Given the description of an element on the screen output the (x, y) to click on. 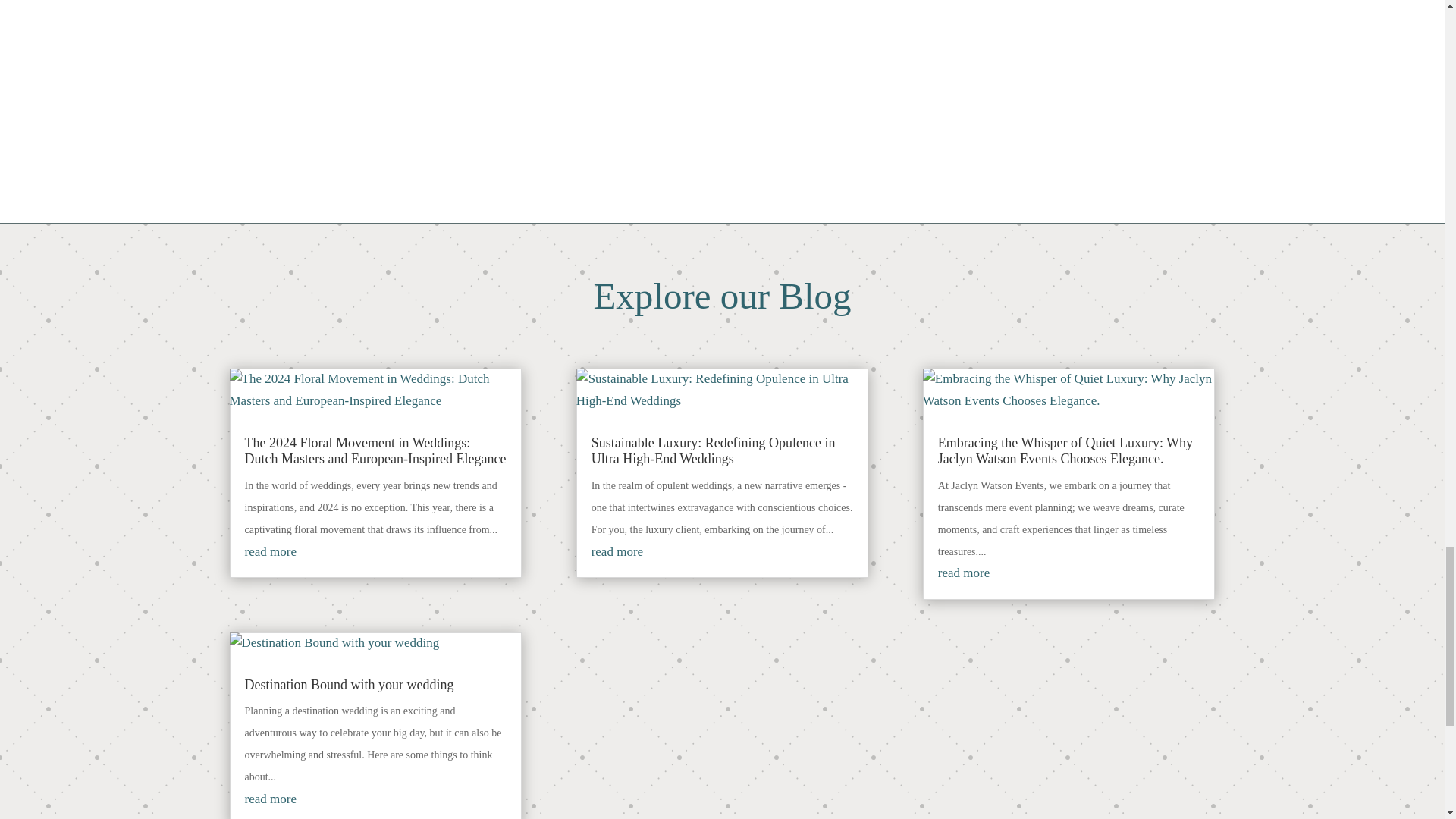
read more (269, 798)
Destination Bound with your wedding (348, 684)
read more (269, 551)
